Given the description of an element on the screen output the (x, y) to click on. 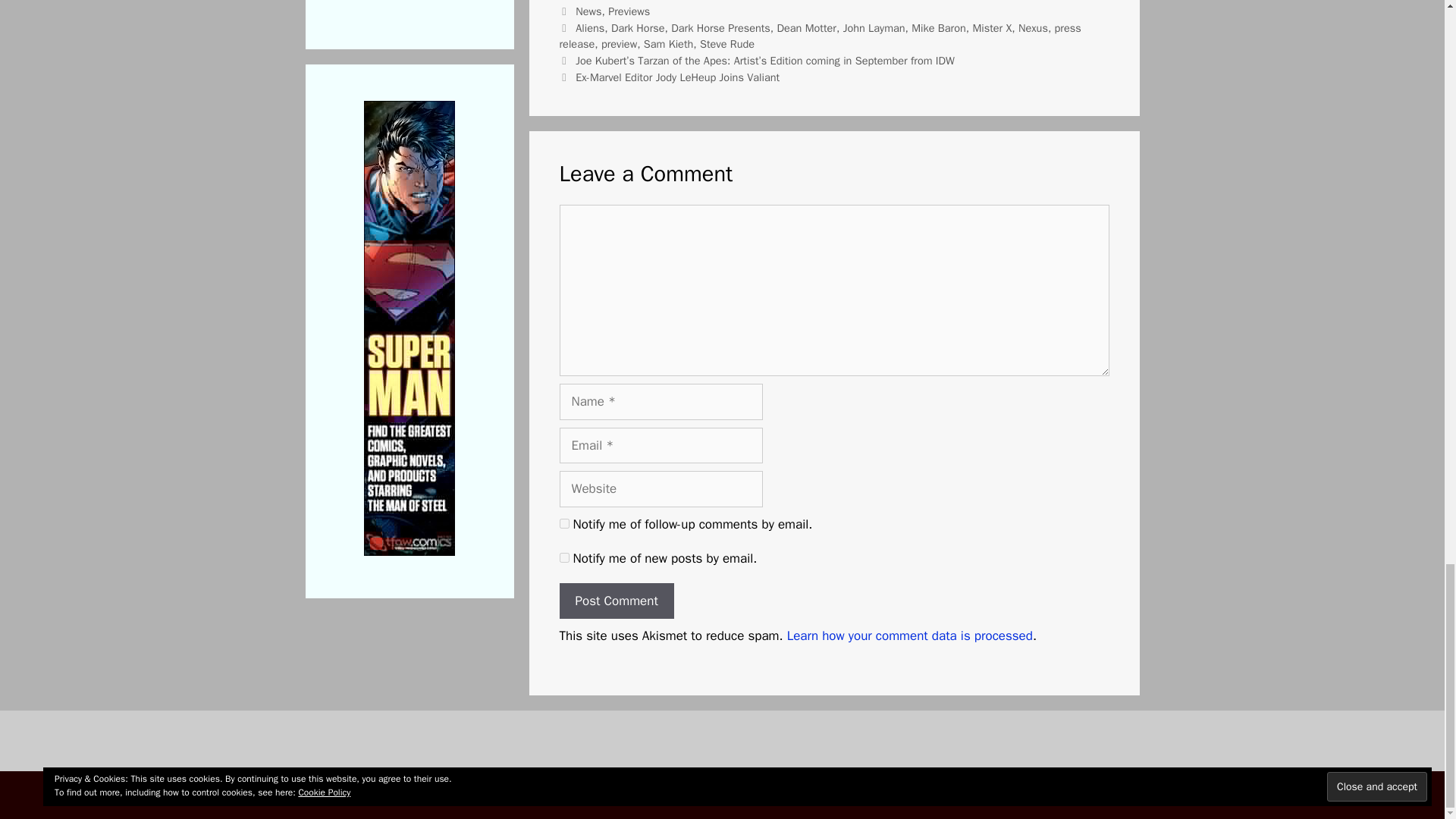
subscribe (564, 557)
subscribe (564, 523)
Post Comment (616, 601)
